Given the description of an element on the screen output the (x, y) to click on. 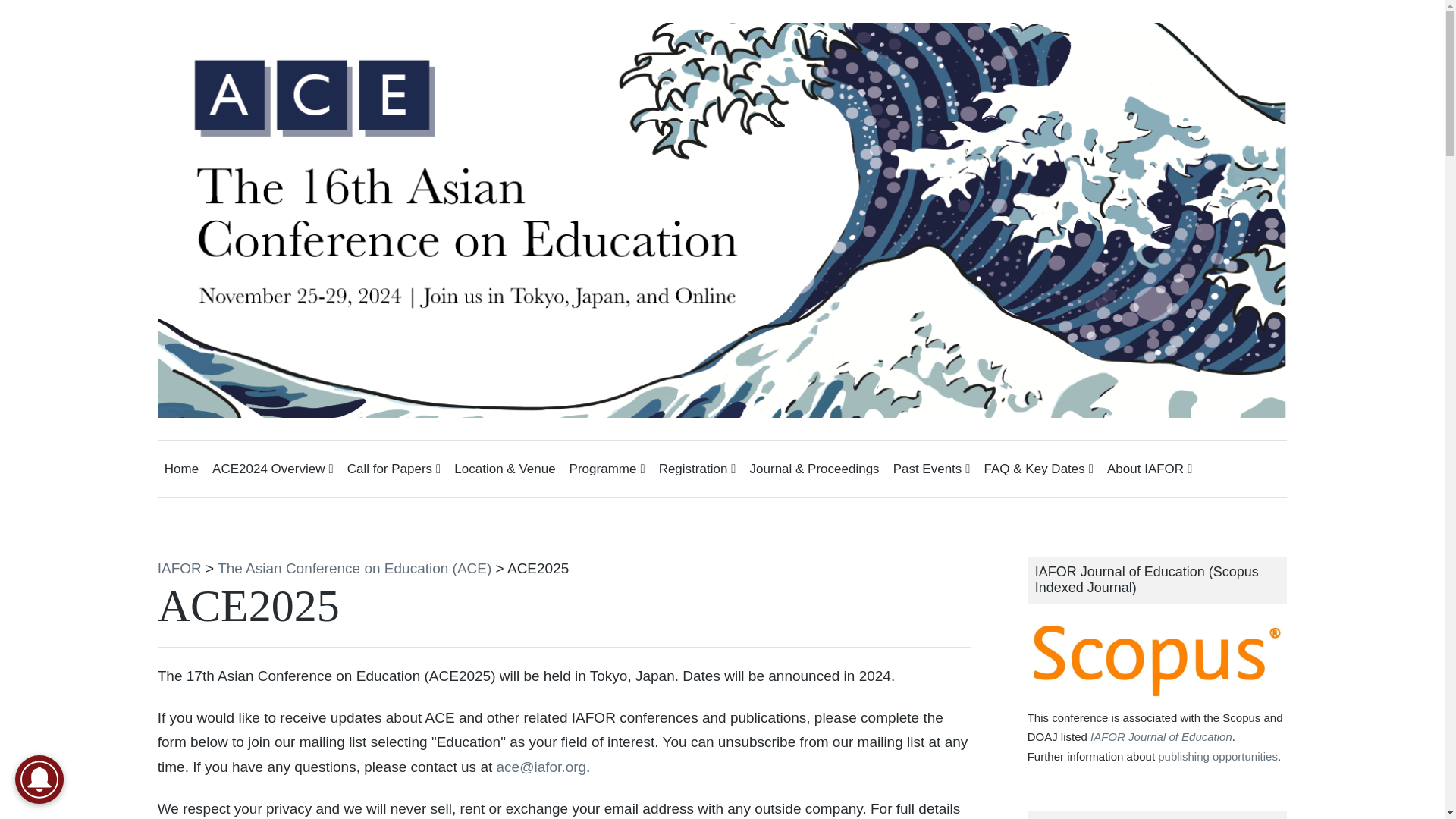
Opens a widget where you can find more information (1374, 792)
Home (181, 469)
Registration (697, 469)
Call for Papers (394, 469)
Past Events (932, 469)
Programme (607, 469)
ACE2024 Overview (272, 469)
Go to IAFOR. (179, 568)
